Given the description of an element on the screen output the (x, y) to click on. 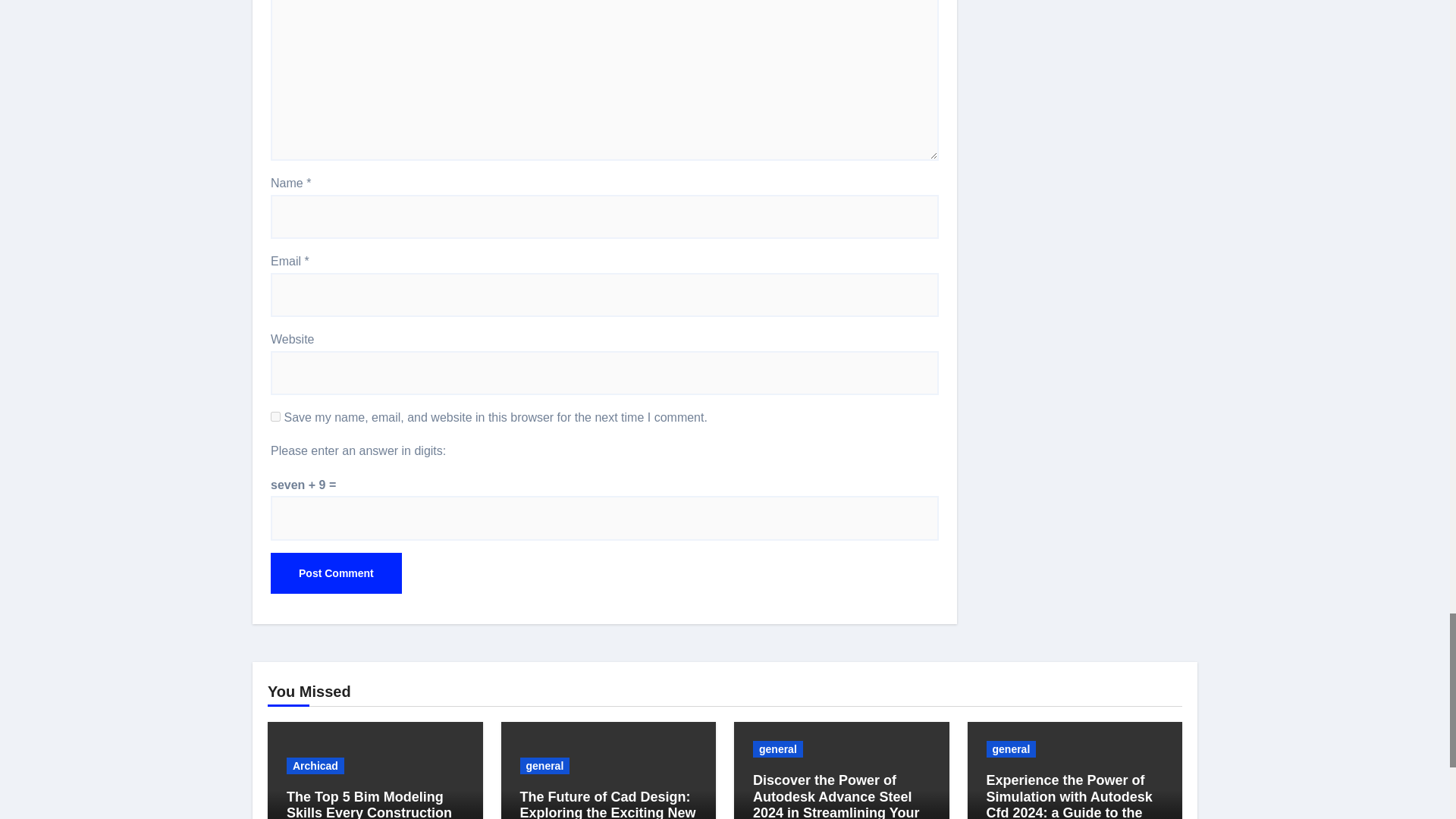
yes (275, 416)
Post Comment (335, 572)
